Given the description of an element on the screen output the (x, y) to click on. 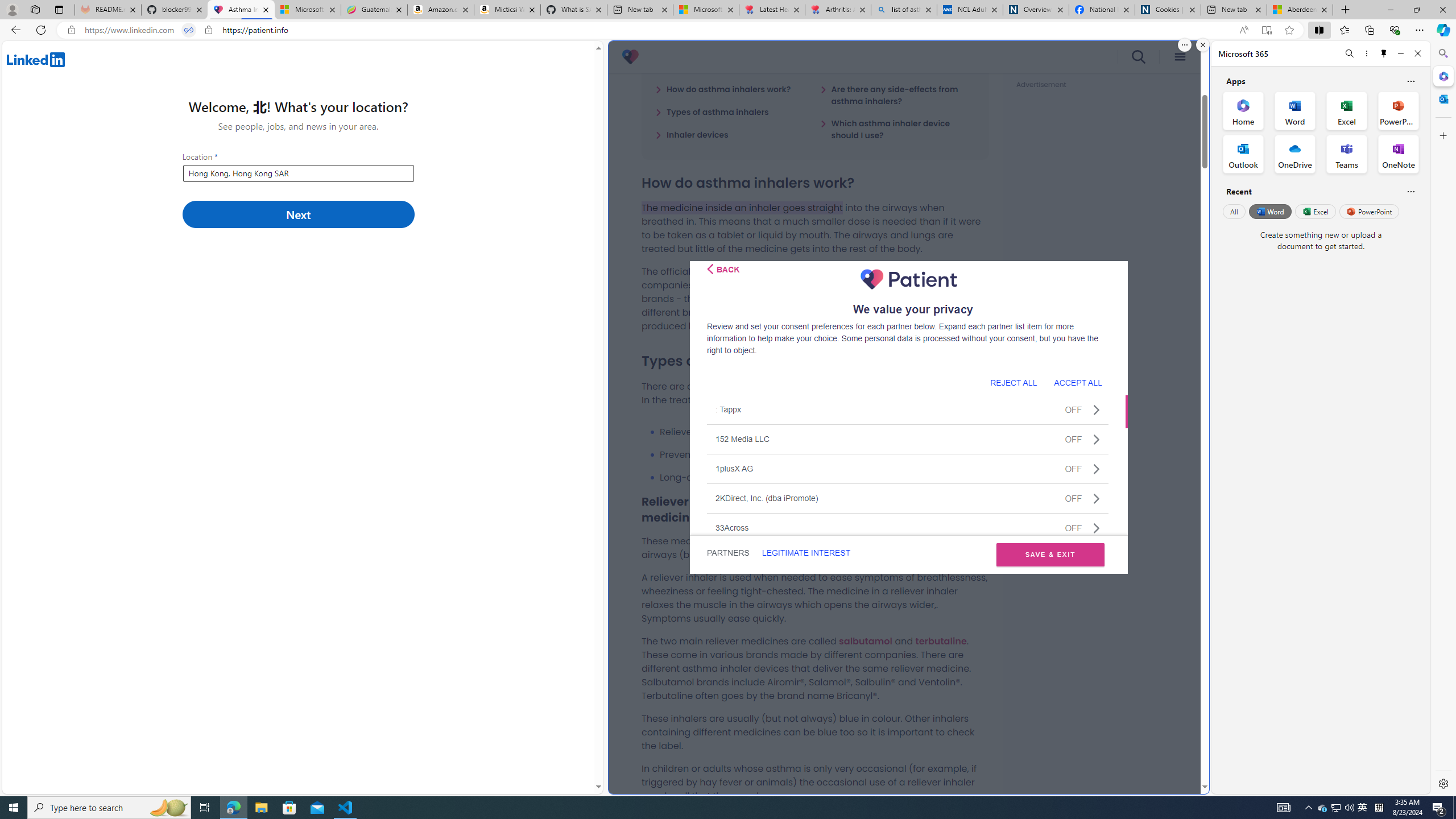
Types of asthma inhalers (711, 111)
Outlook Office App (1243, 154)
All (1233, 210)
PowerPoint (1369, 210)
Arthritis: Ask Health Professionals (838, 9)
PowerPoint Office App (1398, 110)
